Given the description of an element on the screen output the (x, y) to click on. 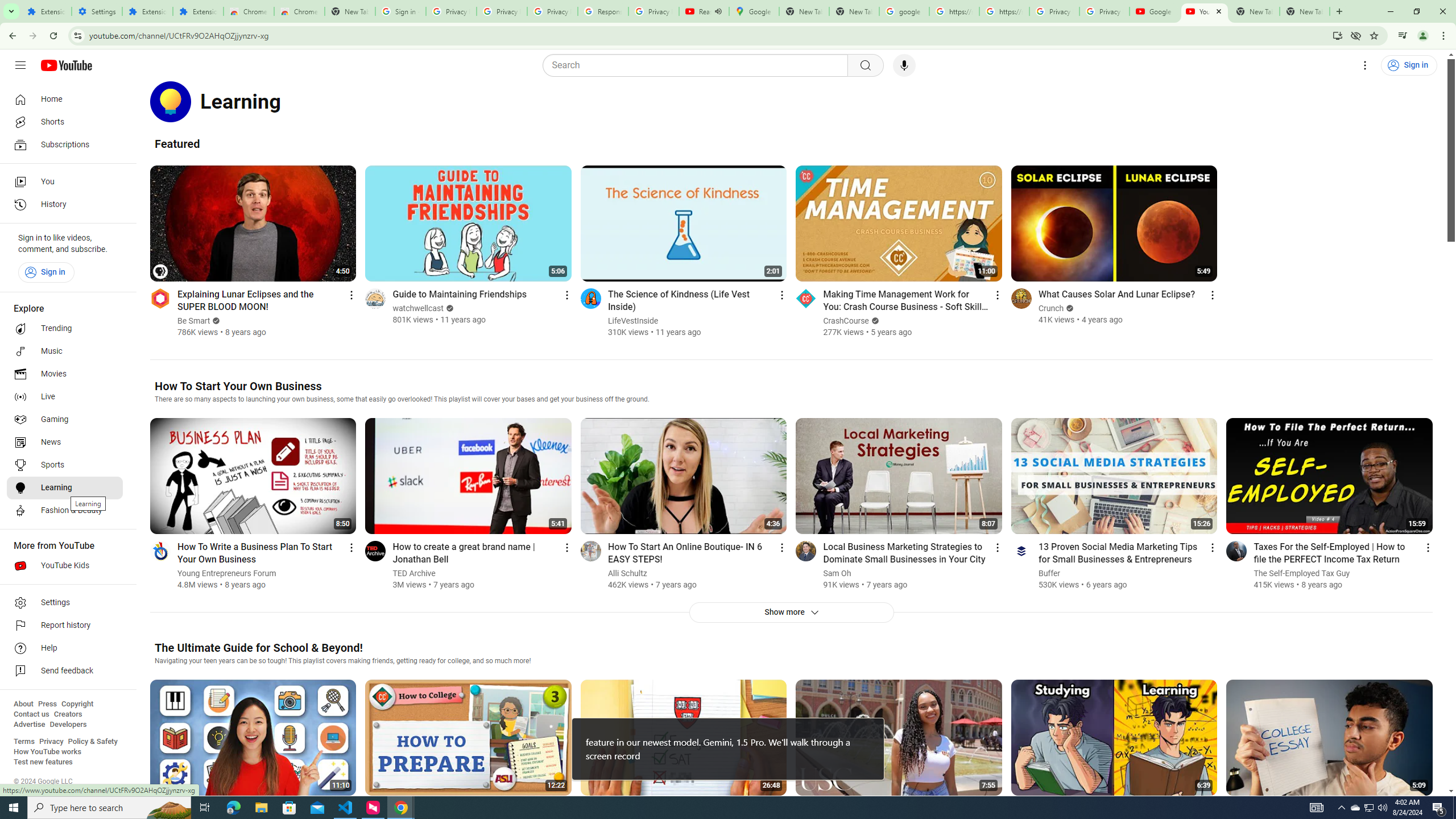
Crunch (1051, 308)
Chrome Web Store (248, 11)
Advertise (29, 724)
Mute tab (717, 10)
Shorts (64, 121)
Extensions (197, 11)
Sign in - Google Accounts (399, 11)
Guide (20, 65)
Test new features (42, 761)
